Given the description of an element on the screen output the (x, y) to click on. 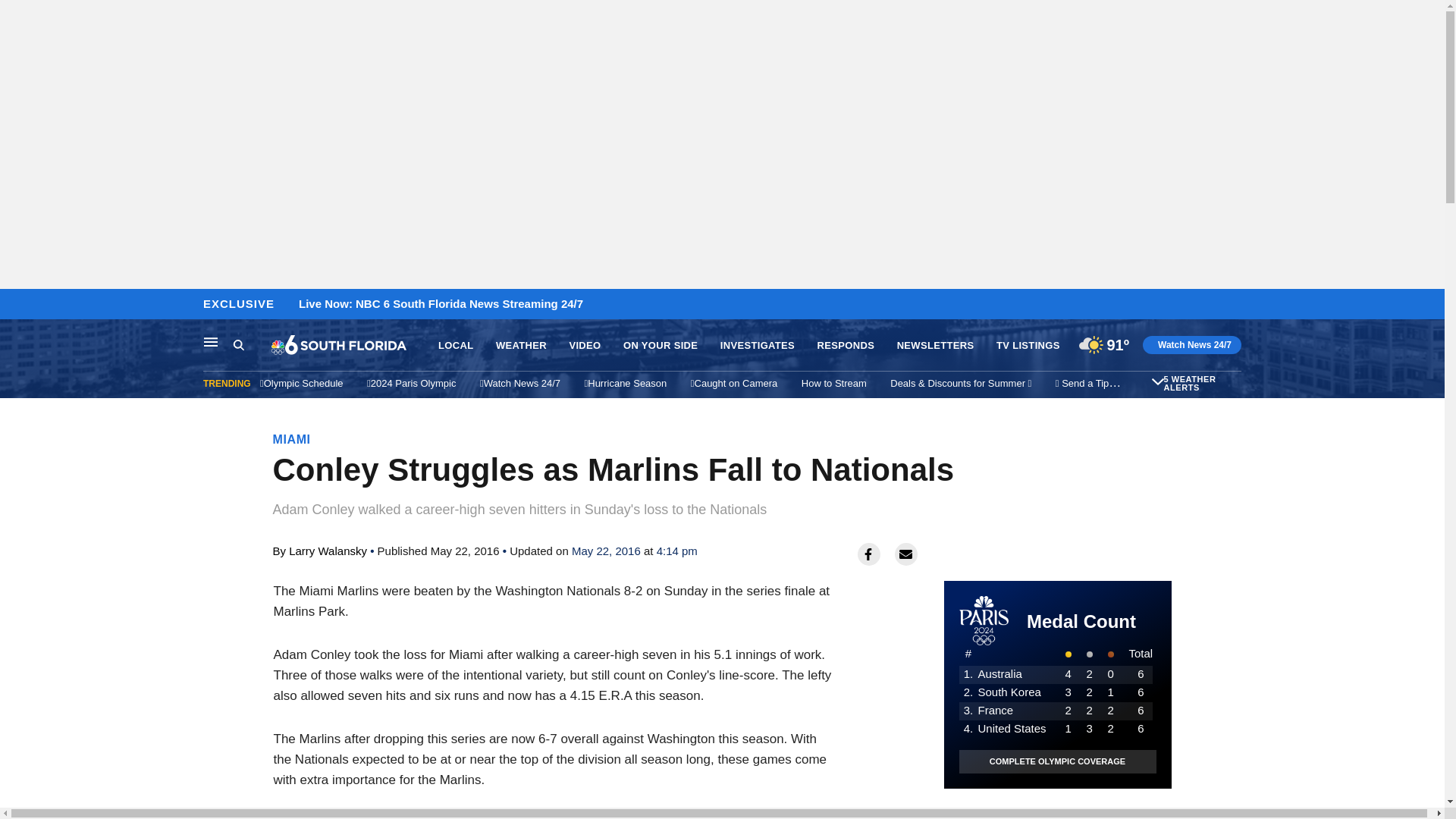
INVESTIGATES (757, 345)
Expand (1157, 381)
LOCAL (455, 345)
Skip to content (16, 304)
Newsletters (1158, 383)
RESPONDS (845, 345)
MIAMI (292, 439)
How to Stream (834, 383)
NEWSLETTERS (935, 345)
ON YOUR SIDE (660, 345)
TV LISTINGS (1027, 345)
VIDEO (584, 345)
Search (252, 345)
Main Navigation (210, 341)
Search (238, 344)
